Given the description of an element on the screen output the (x, y) to click on. 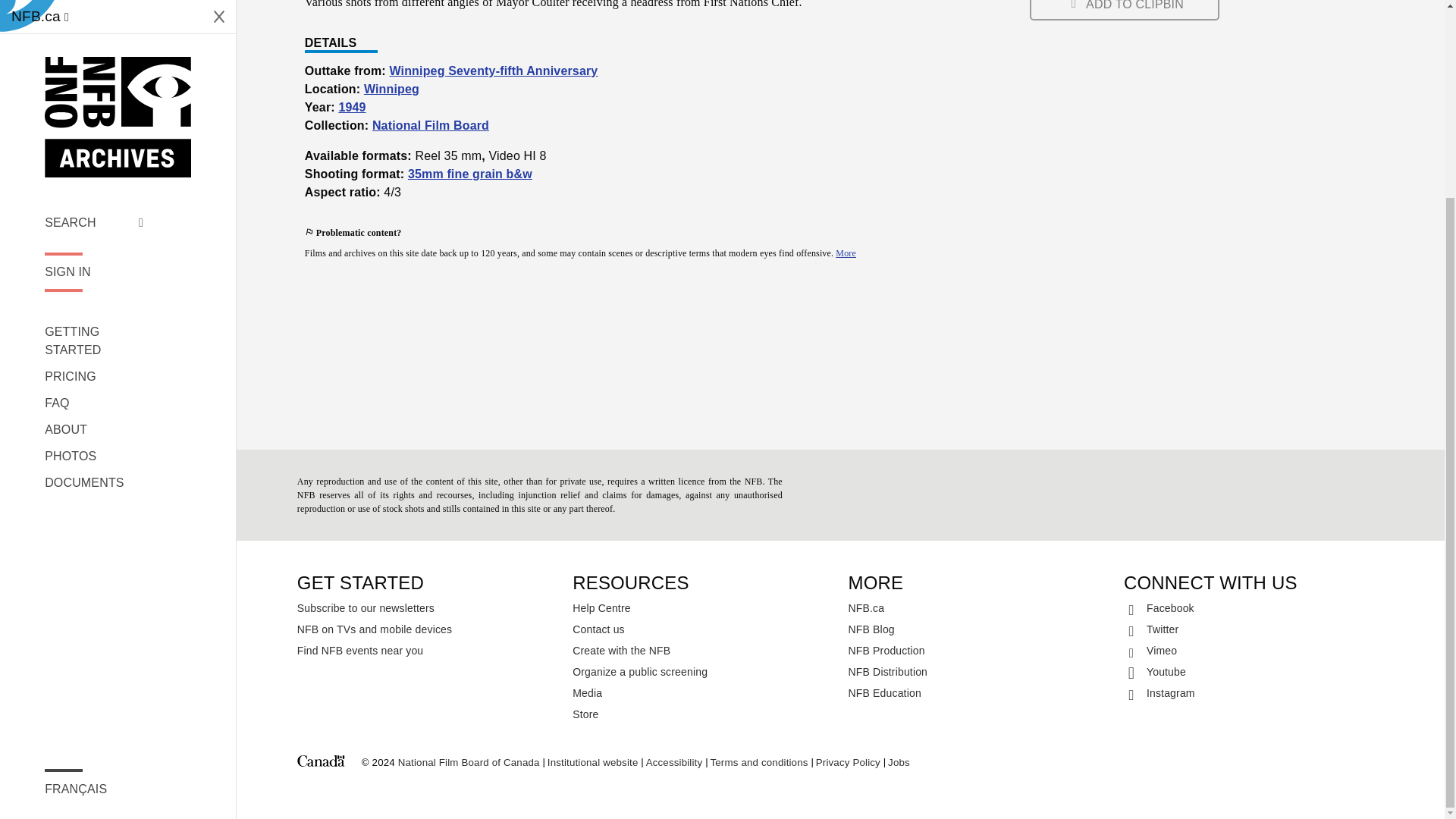
NFB Blog (978, 629)
Contact us (702, 629)
NFB on TVs and mobile devices (427, 629)
Media (702, 692)
ADD TO CLIPBIN (1124, 10)
Find NFB events near you (427, 649)
Canada (321, 762)
SIGN IN (93, 20)
NFB Distribution (978, 671)
NFB.ca (978, 608)
Organize a public screening (702, 671)
Store (702, 713)
Winnipeg Seventy-fifth Anniversary (492, 70)
NFB Production (978, 649)
1949 (351, 106)
